Given the description of an element on the screen output the (x, y) to click on. 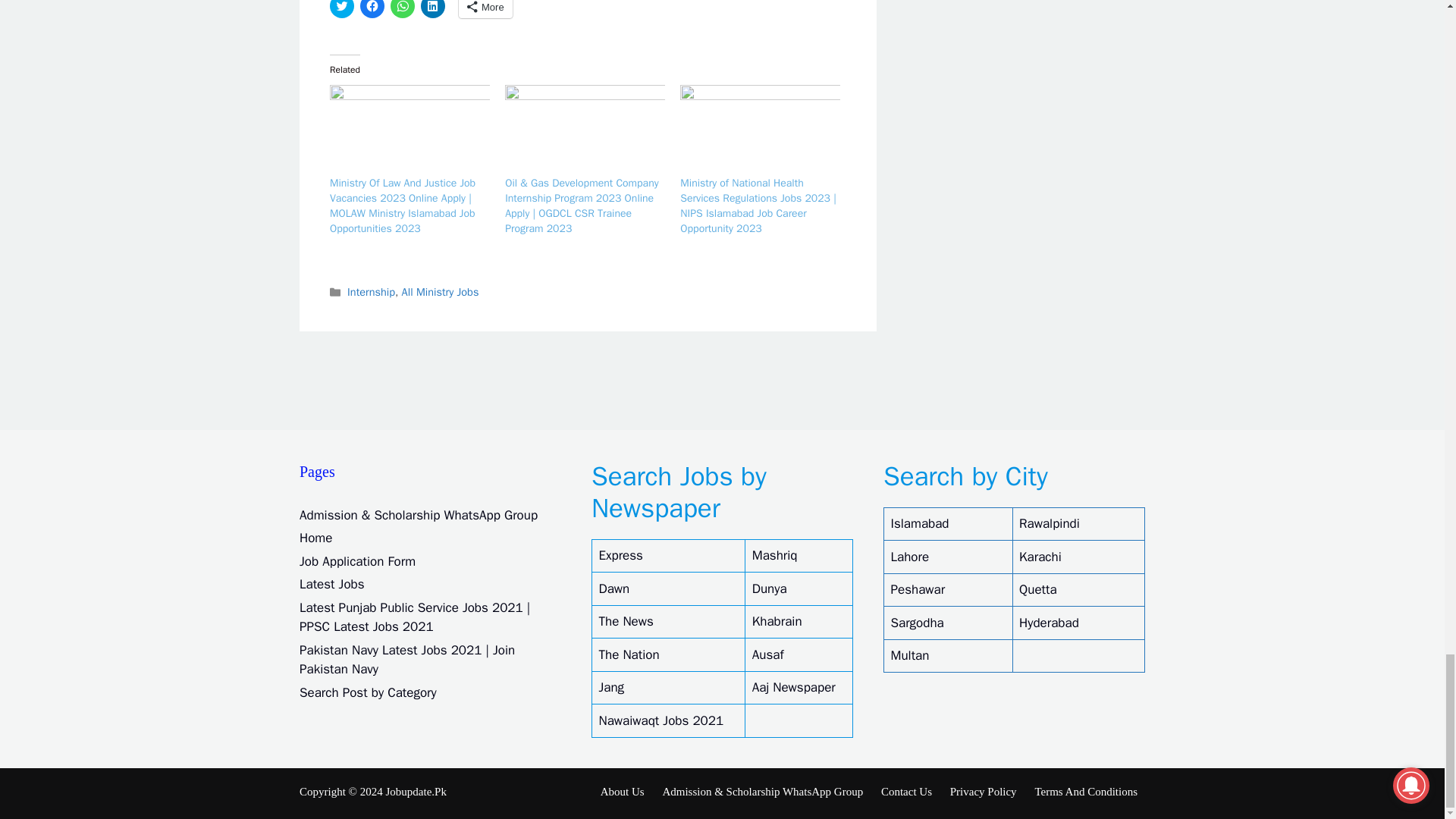
Click to share on WhatsApp (402, 9)
Click to share on LinkedIn (432, 9)
Click to share on Twitter (341, 9)
Click to share on Facebook (371, 9)
